Given the description of an element on the screen output the (x, y) to click on. 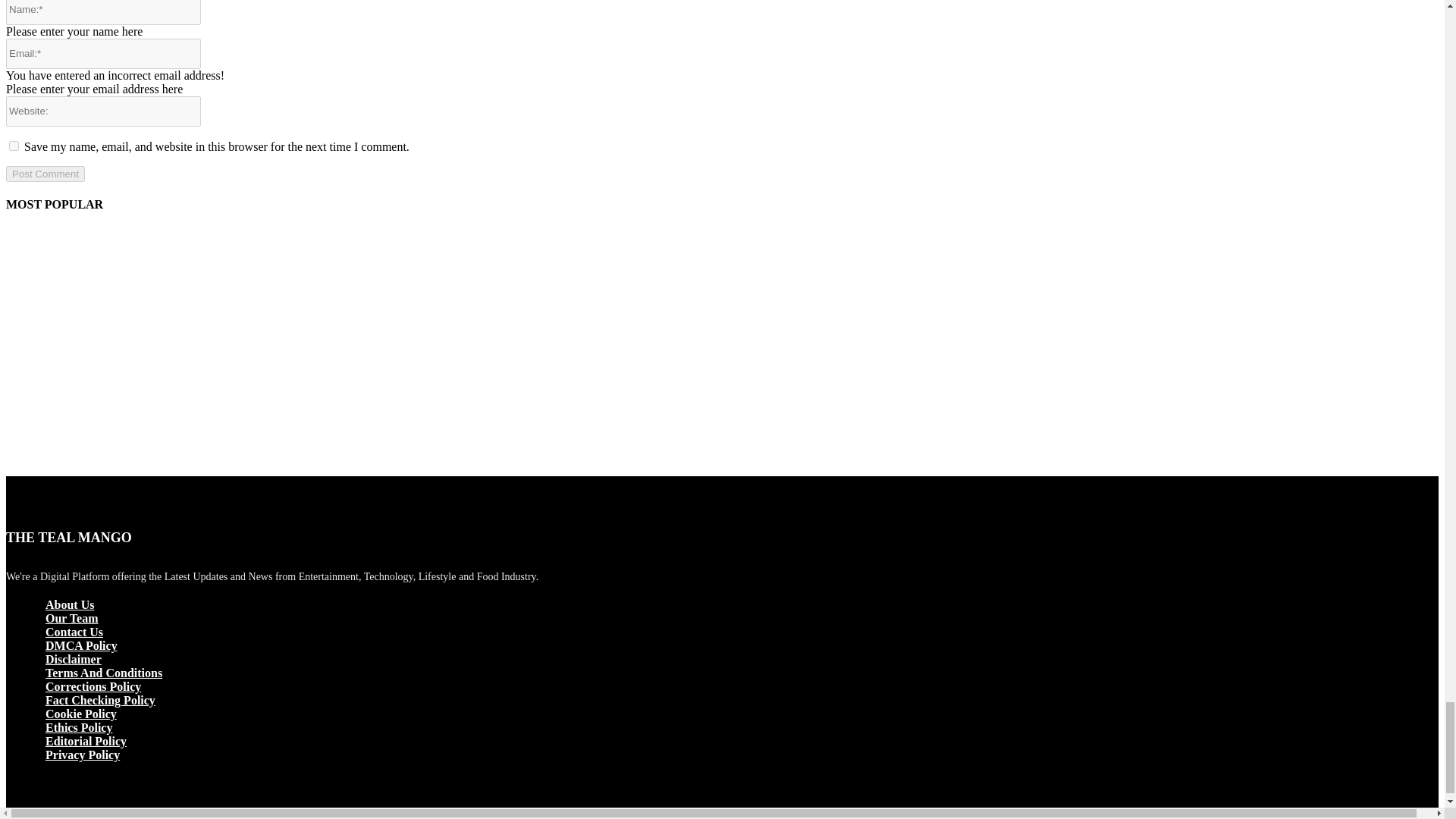
Post Comment (44, 173)
yes (13, 145)
